Given the description of an element on the screen output the (x, y) to click on. 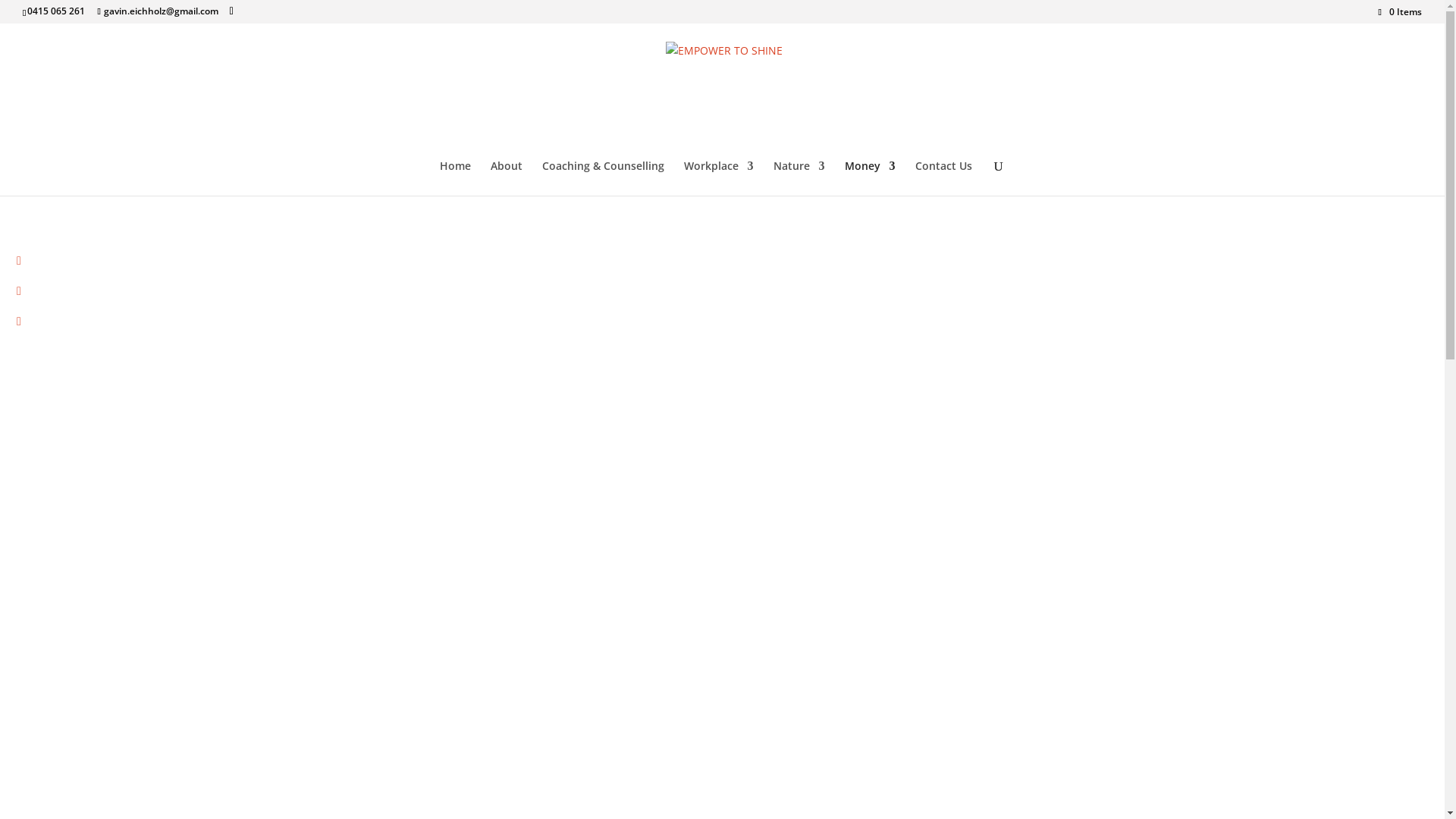
Nature Element type: text (799, 177)
Workplace Element type: text (718, 177)
gavin.eichholz@gmail.com Element type: text (157, 10)
Money Element type: text (869, 177)
0 Items Element type: text (1399, 11)
About Element type: text (505, 177)
Coaching & Counselling Element type: text (602, 177)
Contact Us Element type: text (942, 177)
Home Element type: text (454, 177)
